Given the description of an element on the screen output the (x, y) to click on. 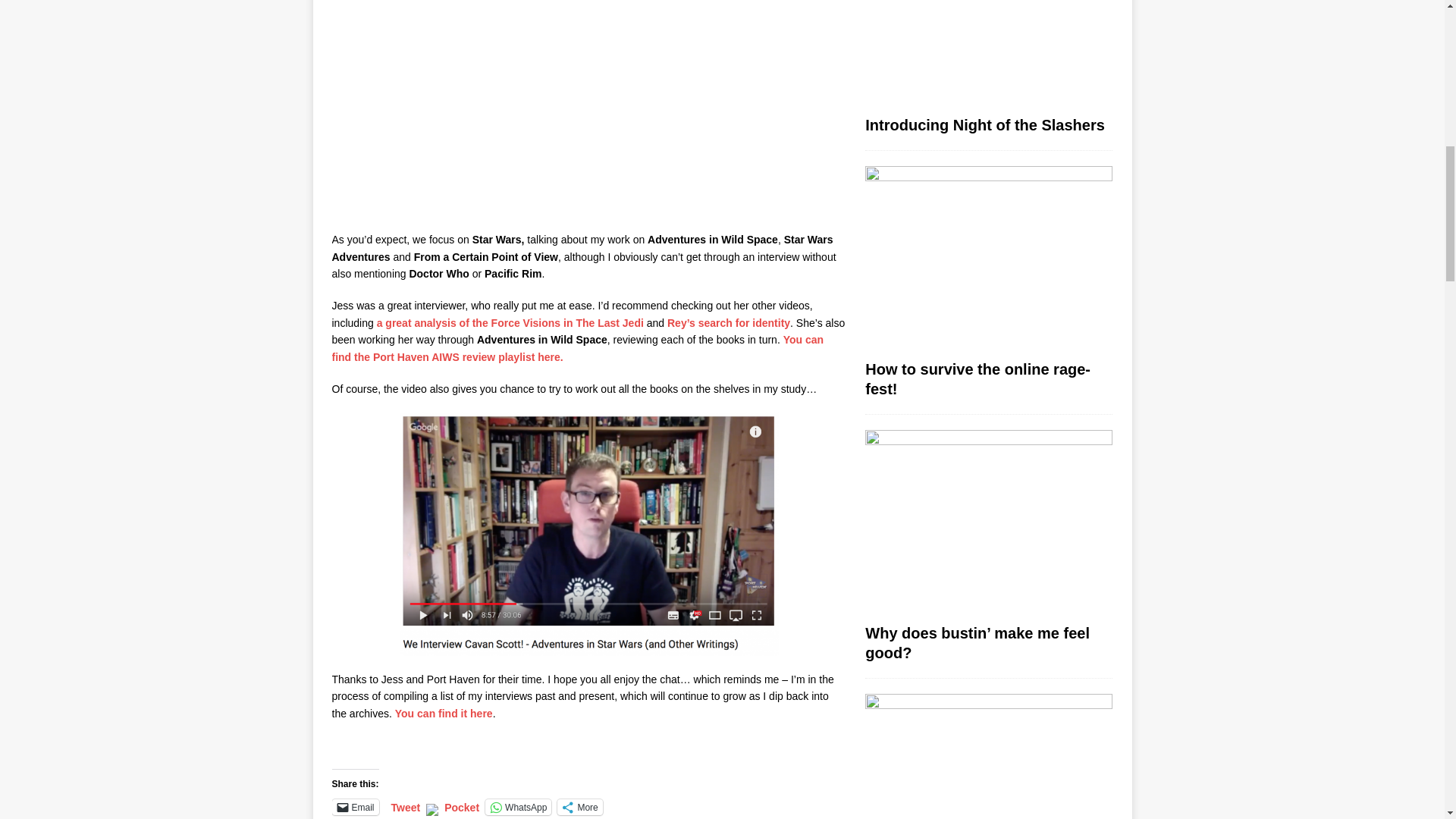
Click to email a link to a friend (354, 806)
 a great analysis of the Force Visions in The Last Jedi (508, 322)
Pocket (461, 807)
Click to share on WhatsApp (517, 806)
Email (354, 806)
More (579, 806)
Tweet (405, 806)
You can find the Port Haven AIWS review playlist here.  (577, 347)
WhatsApp (517, 806)
You can find it here (443, 712)
